Given the description of an element on the screen output the (x, y) to click on. 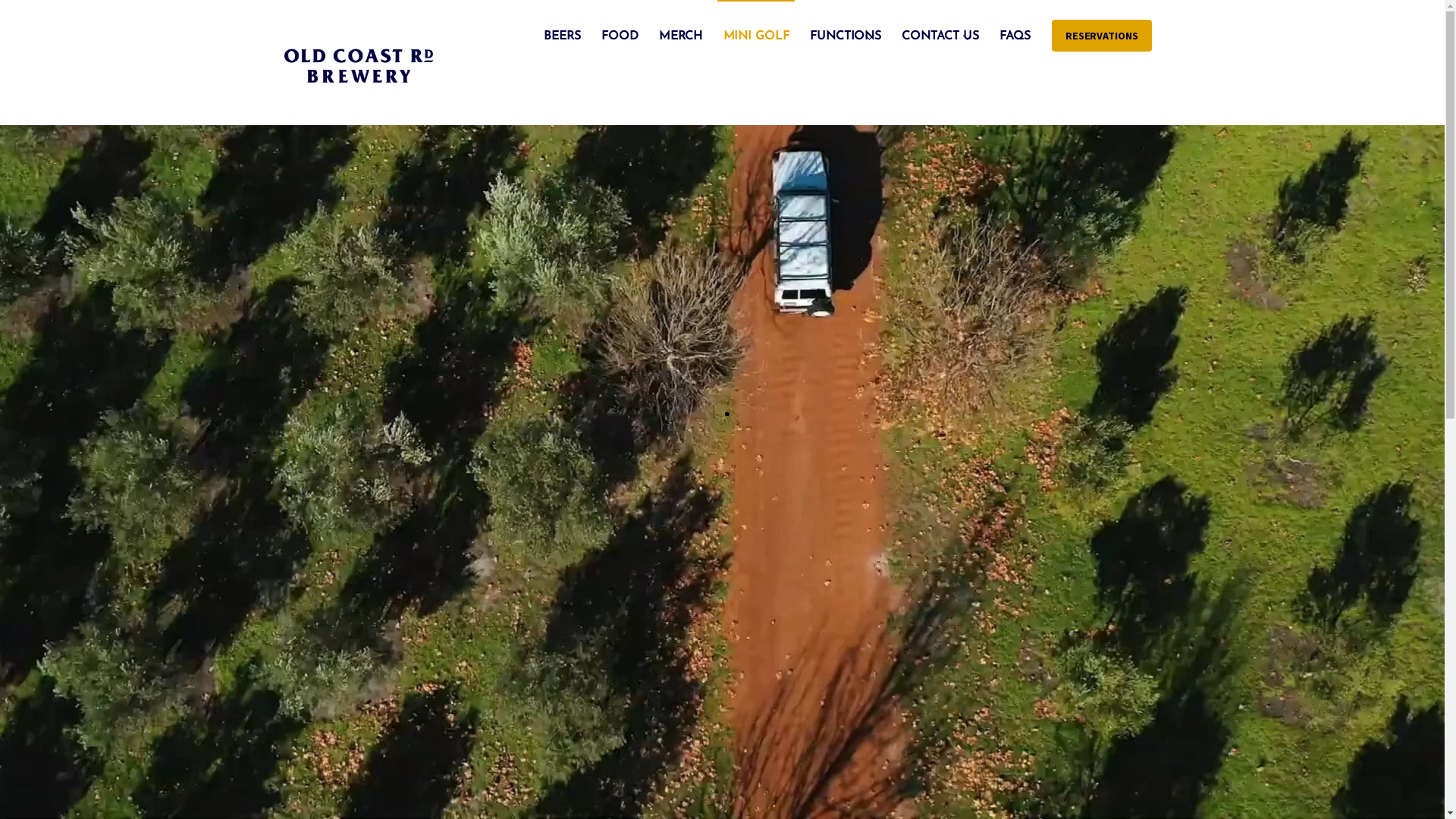
OCRB-New-Logo Element type: hover (357, 66)
FAQS Element type: text (1014, 36)
FUNCTIONS Element type: text (845, 36)
MINI GOLF Element type: text (755, 36)
FOOD Element type: text (619, 36)
BEERS Element type: text (562, 36)
CONTACT US Element type: text (939, 36)
MERCH Element type: text (680, 36)
Old Coast Road Brewery Element type: hover (357, 104)
RESERVATIONS Element type: text (1101, 35)
